Given the description of an element on the screen output the (x, y) to click on. 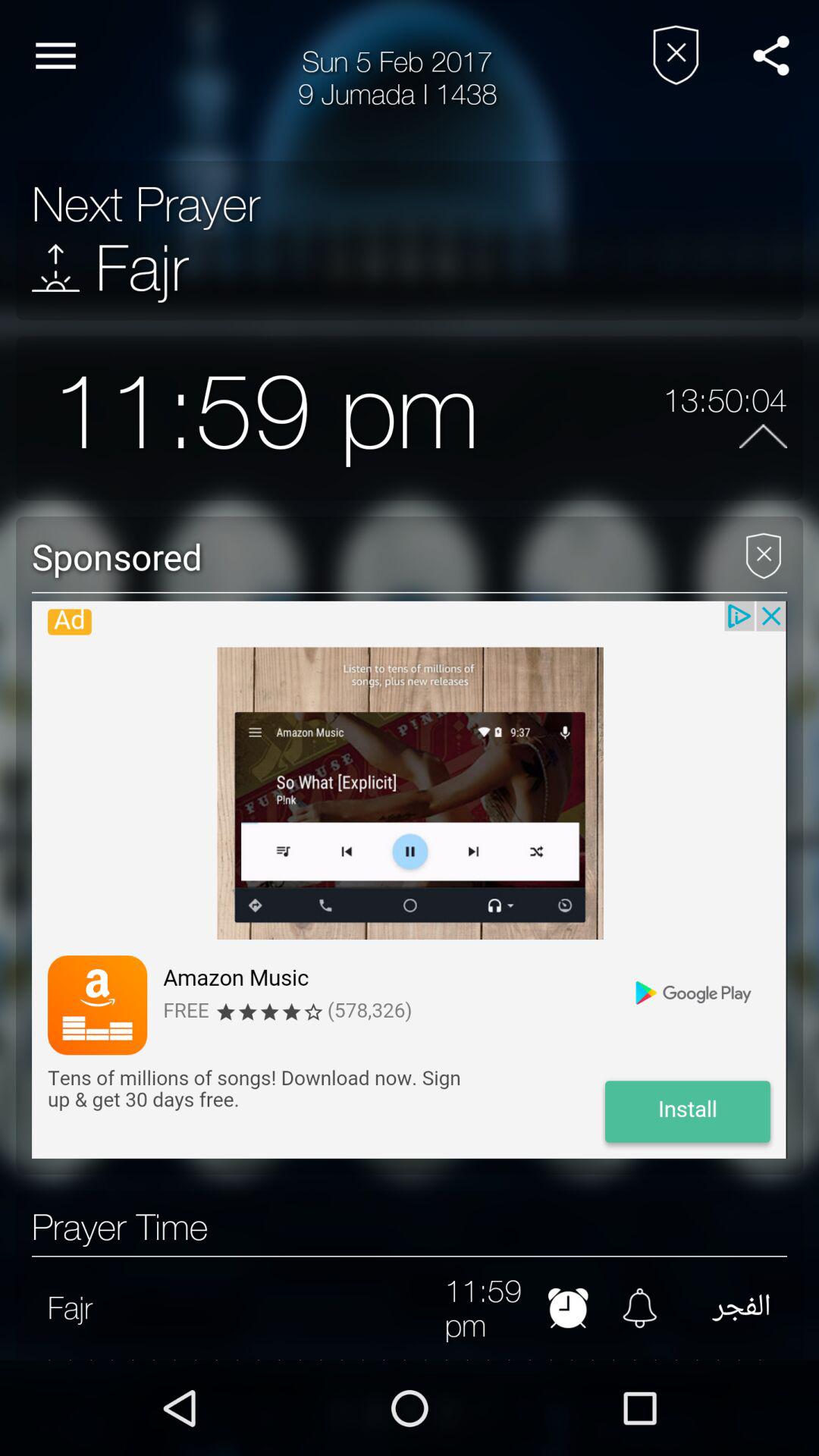
clock timer (568, 1308)
